Given the description of an element on the screen output the (x, y) to click on. 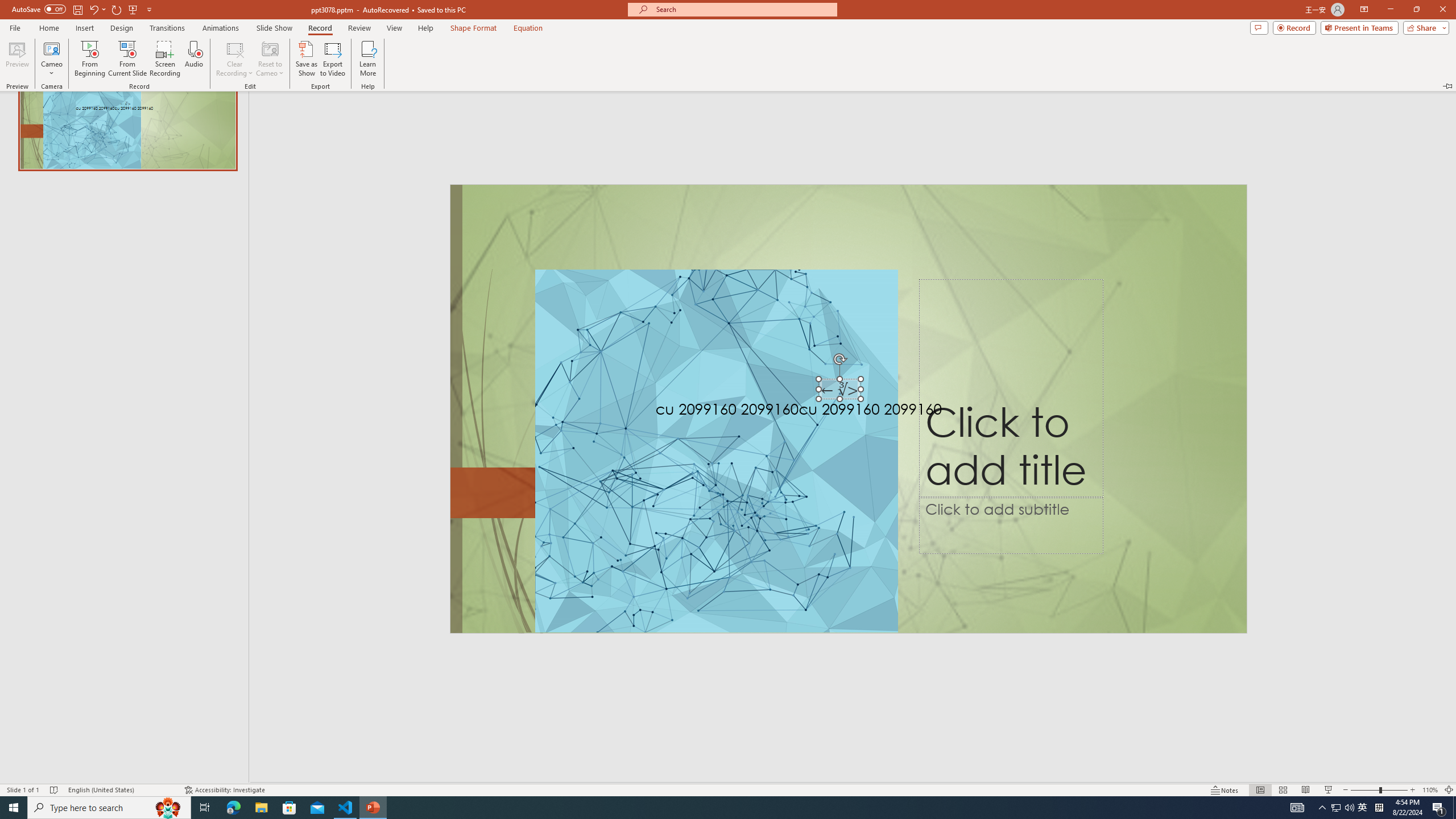
Shape Format (473, 28)
Type here to search (108, 807)
